Given the description of an element on the screen output the (x, y) to click on. 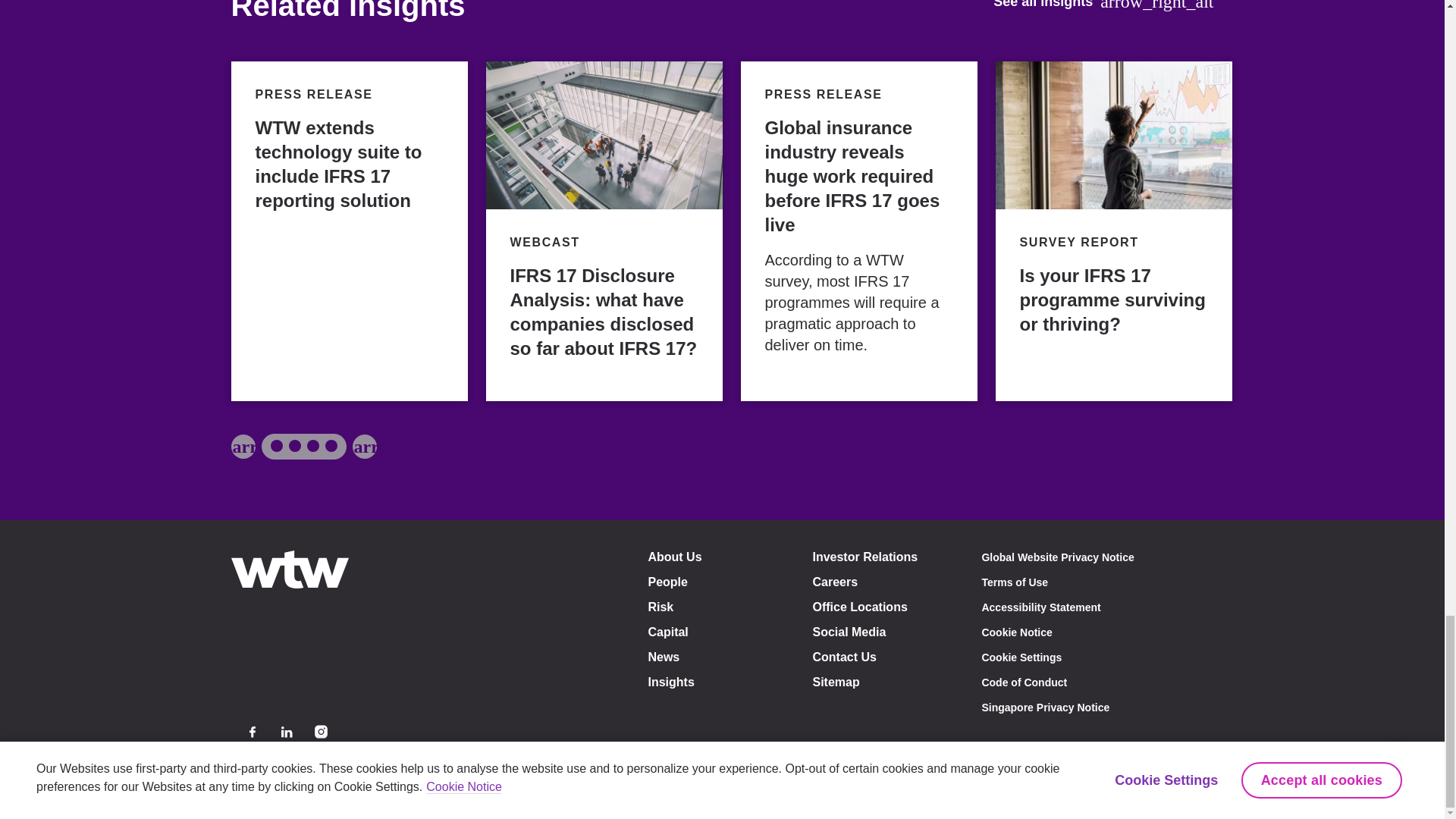
Linkedin (287, 732)
Facebook (252, 732)
Instagram (320, 732)
